Given the description of an element on the screen output the (x, y) to click on. 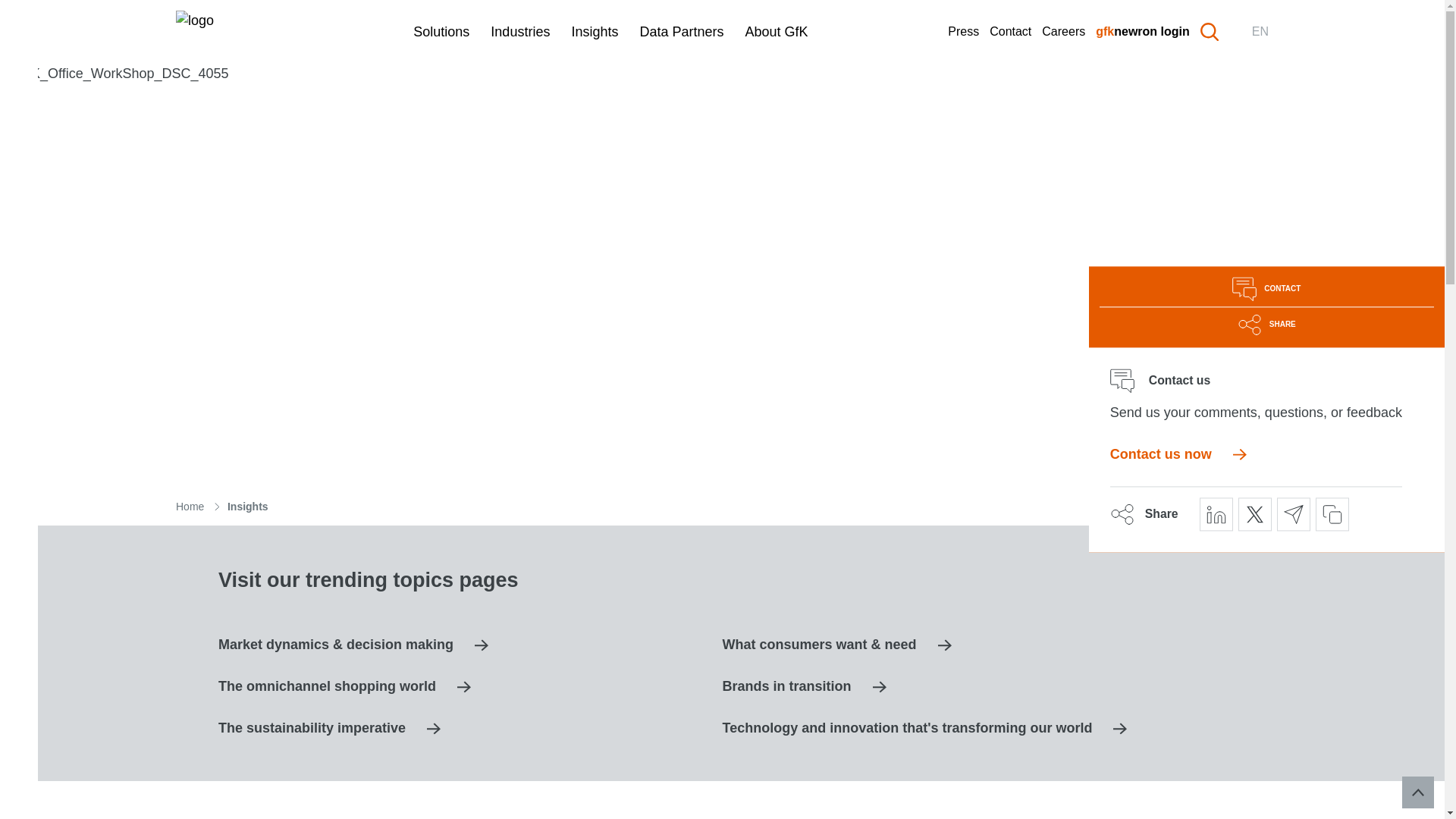
Contact (1010, 31)
About GfK (776, 31)
gfknewron login (1142, 31)
Careers (1063, 31)
Data Partners (681, 31)
Industries (520, 31)
Press (962, 31)
